Given the description of an element on the screen output the (x, y) to click on. 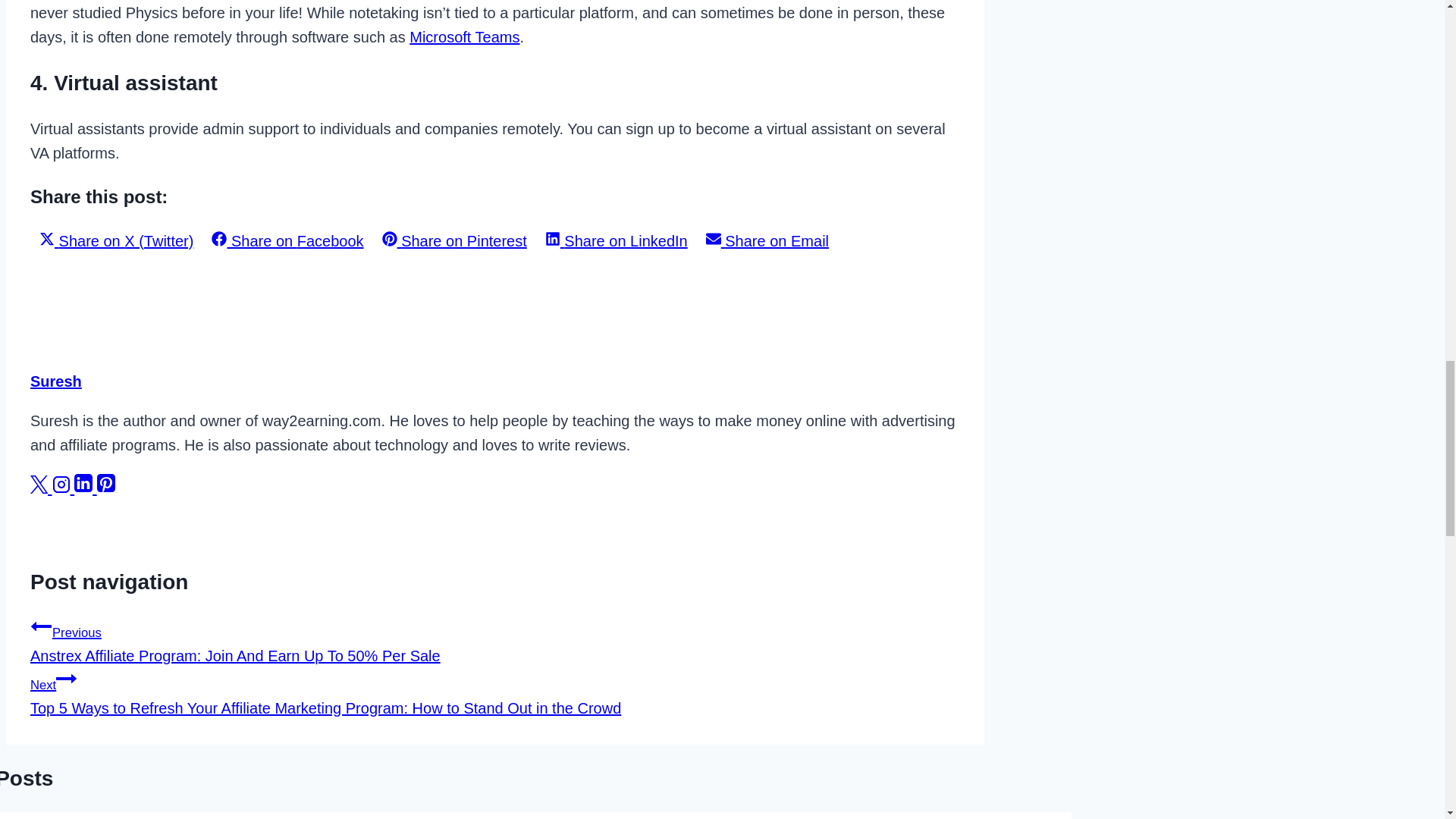
Previous (41, 626)
Linkedin (85, 487)
Instagram (60, 484)
Microsoft Teams (464, 36)
Share on Facebook (287, 240)
Posts by Suresh (55, 381)
Share on Pinterest (453, 240)
Suresh (55, 381)
Pinterest (106, 487)
Instagram (63, 487)
